Given the description of an element on the screen output the (x, y) to click on. 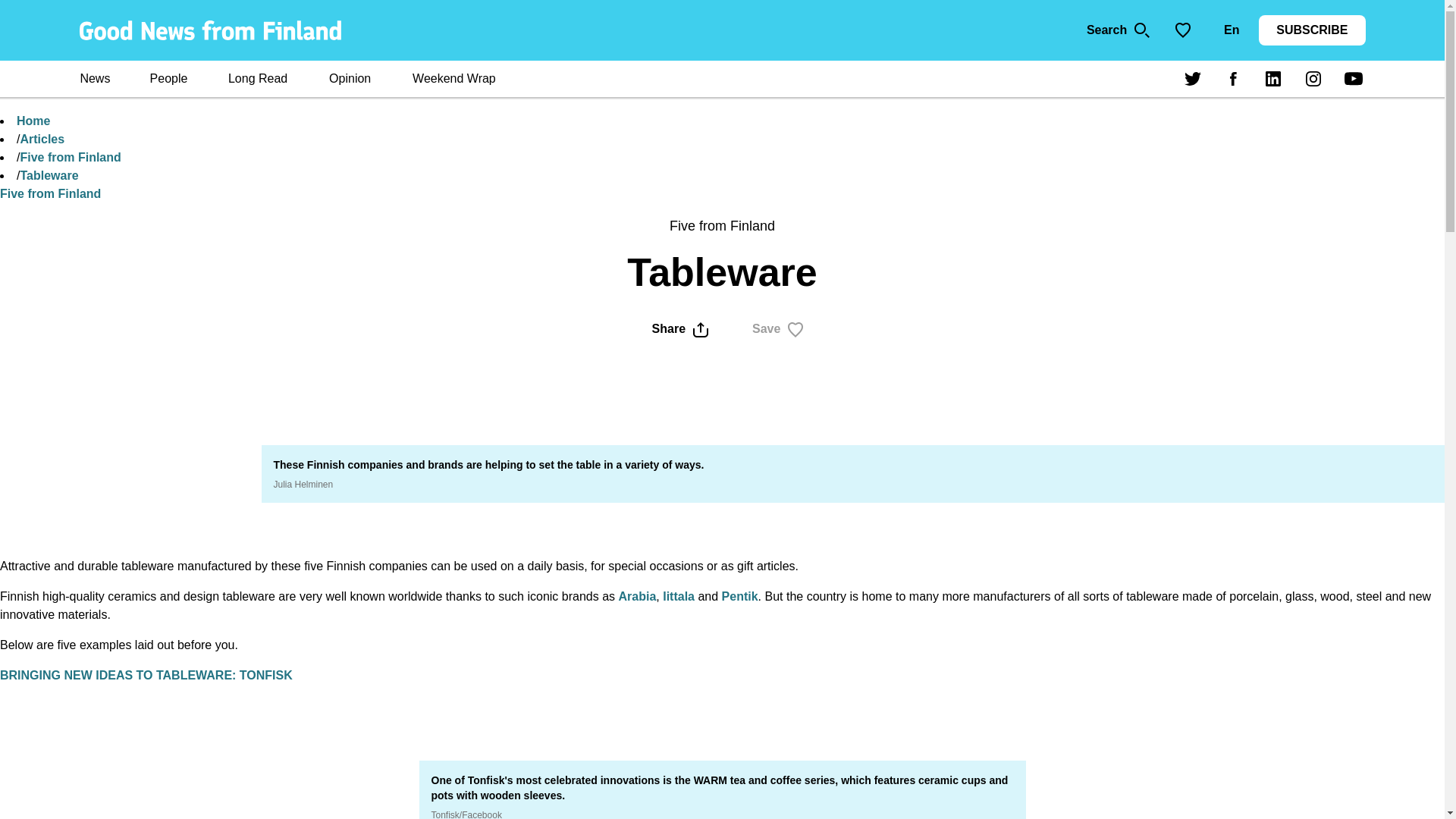
People (167, 79)
Search (1118, 30)
Weekend Wrap (453, 79)
Opinion (349, 79)
SUBSCRIBE (1312, 30)
Articles (42, 138)
Home (32, 120)
Five from Finland (70, 156)
News (94, 79)
En (1230, 30)
Long Read (258, 79)
